Given the description of an element on the screen output the (x, y) to click on. 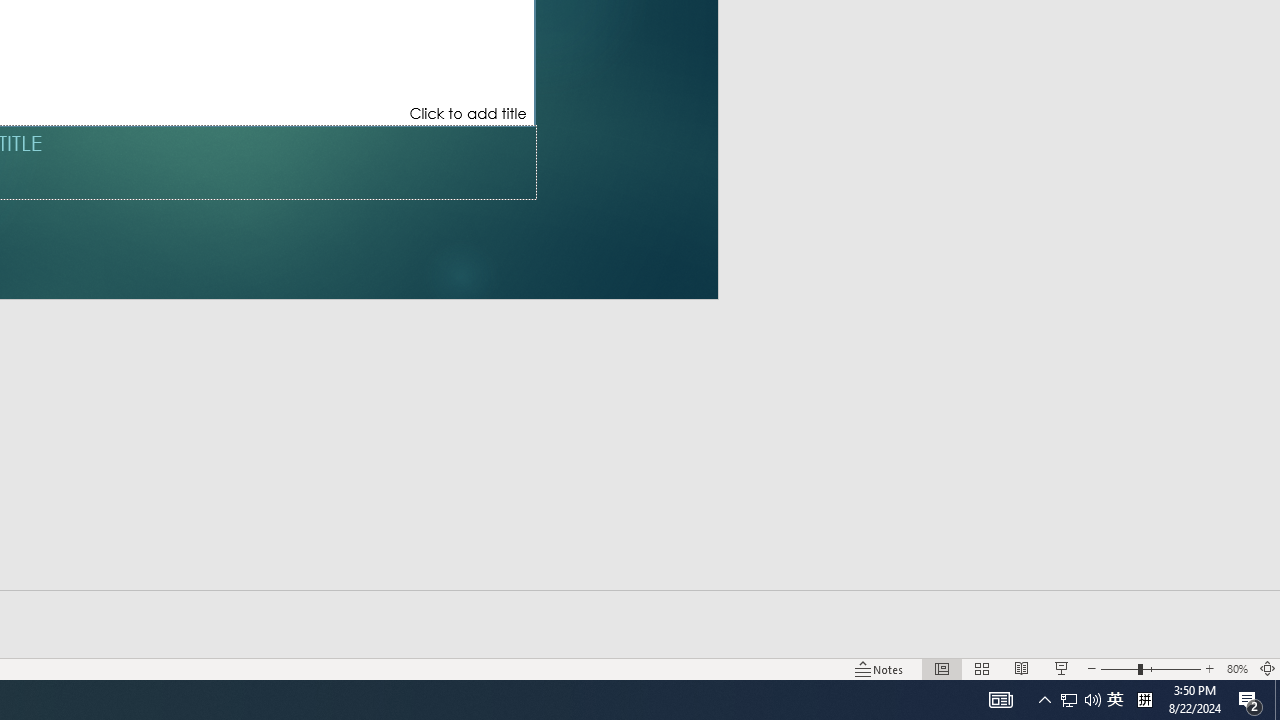
Zoom 80% (1236, 668)
